Given the description of an element on the screen output the (x, y) to click on. 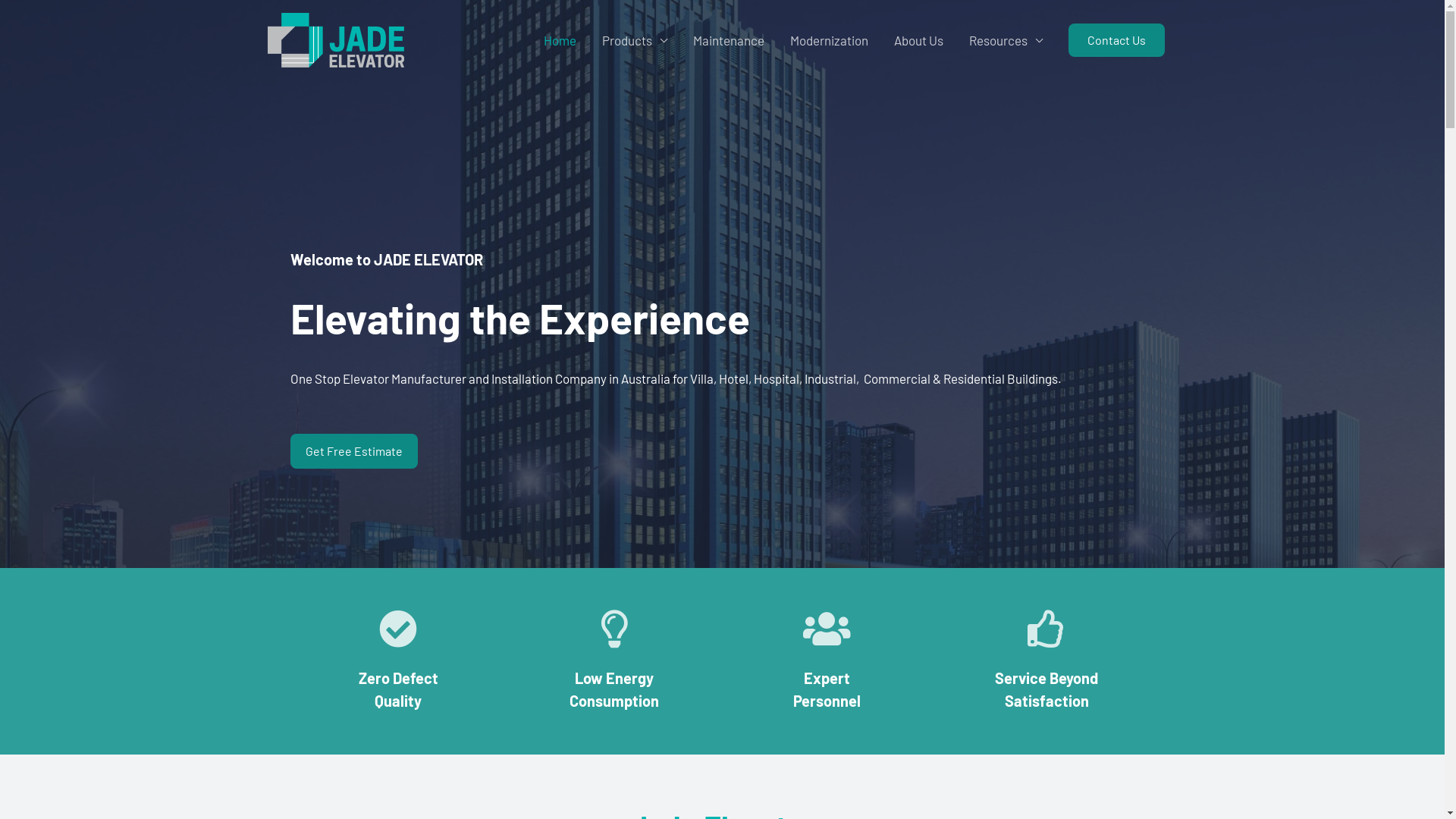
Get Free Estimate Element type: text (353, 450)
Contact Us Element type: text (1115, 39)
Products Element type: text (633, 39)
Maintenance Element type: text (727, 39)
Home Element type: text (559, 39)
Resources Element type: text (1004, 39)
About Us Element type: text (918, 39)
Modernization Element type: text (828, 39)
